Given the description of an element on the screen output the (x, y) to click on. 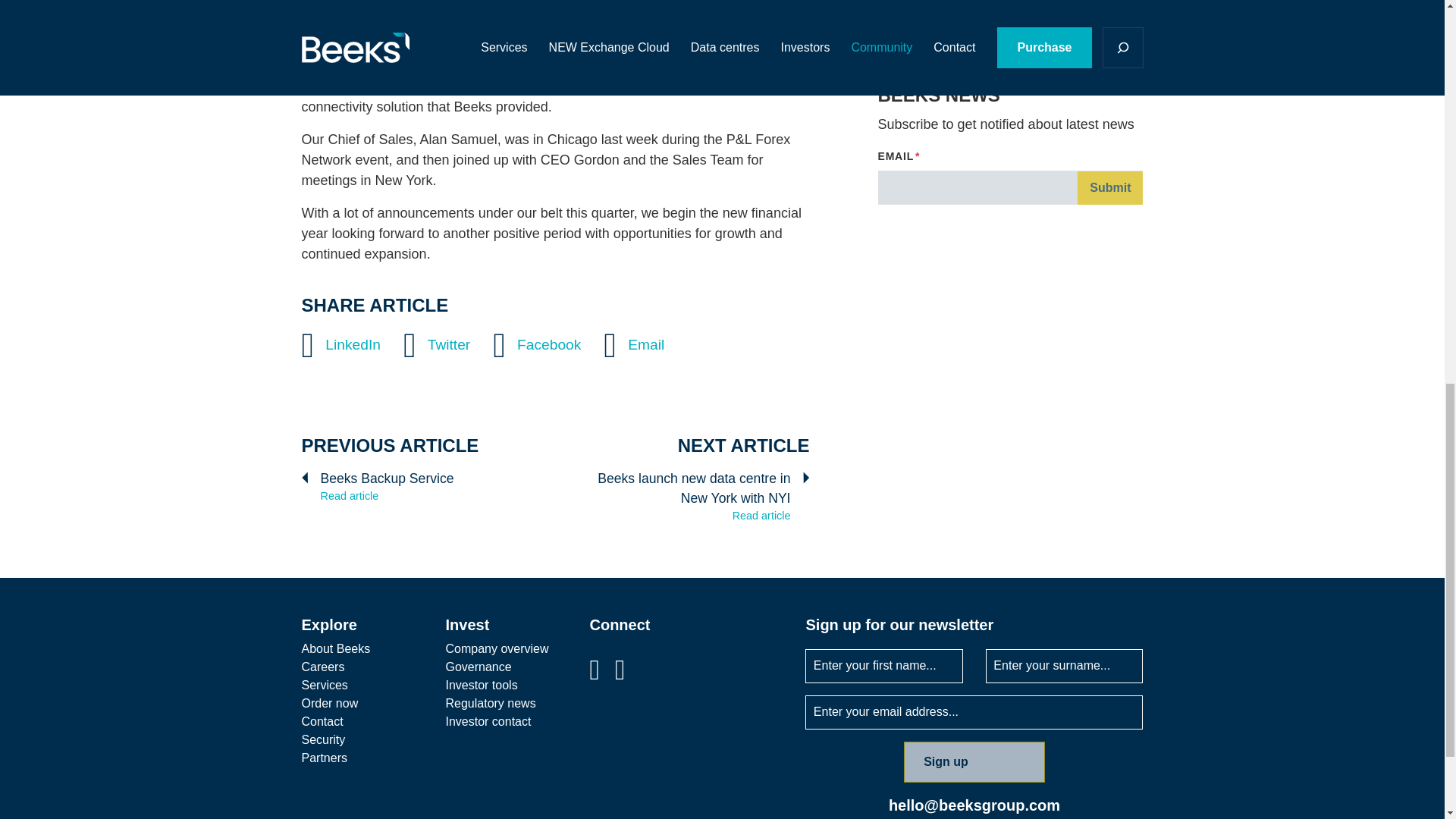
Submit (1109, 187)
Sign up (974, 762)
